Given the description of an element on the screen output the (x, y) to click on. 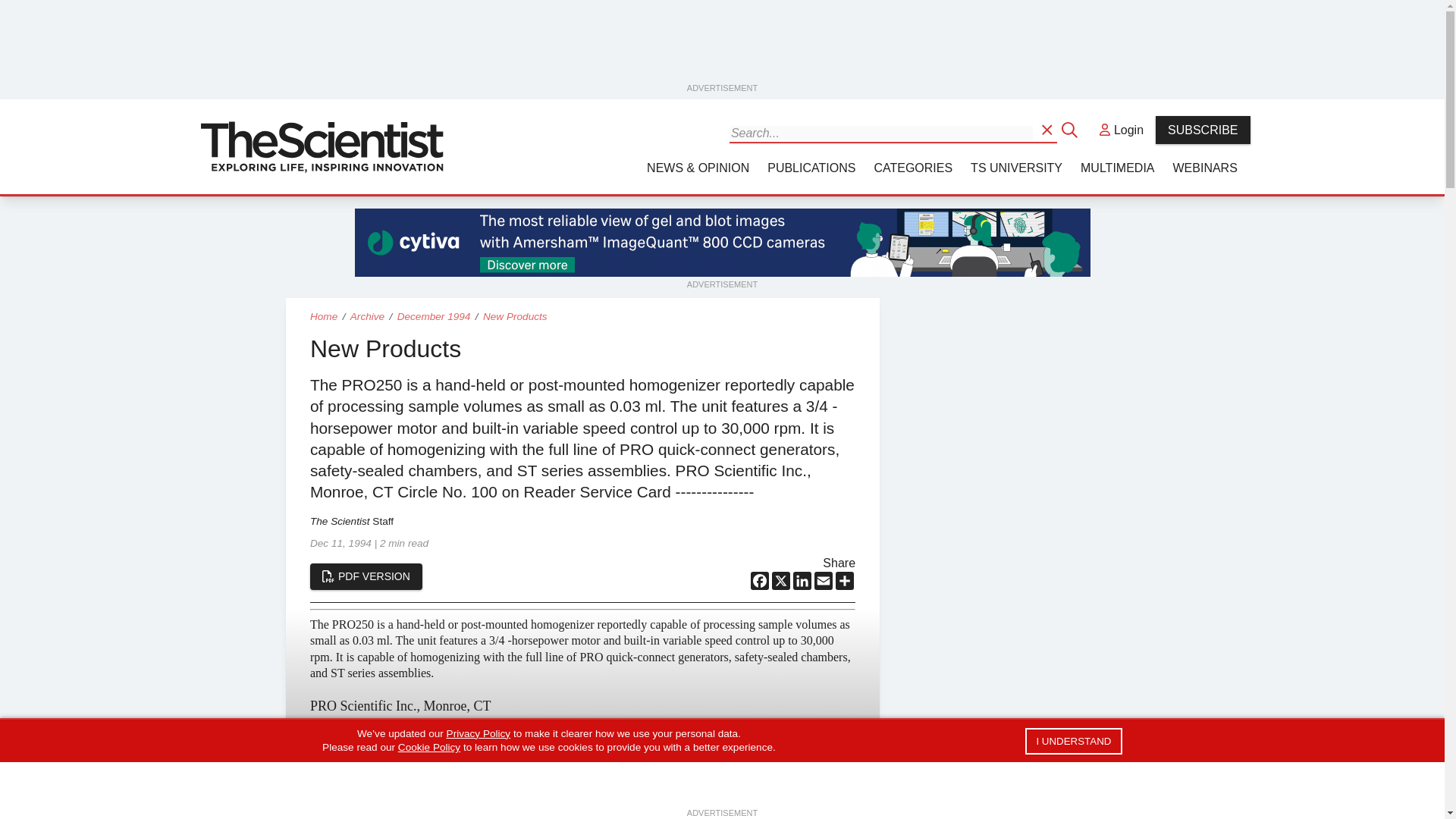
Open Search (1049, 129)
Close Search (1071, 129)
3rd party ad content (722, 242)
3rd party ad content (722, 46)
